Given the description of an element on the screen output the (x, y) to click on. 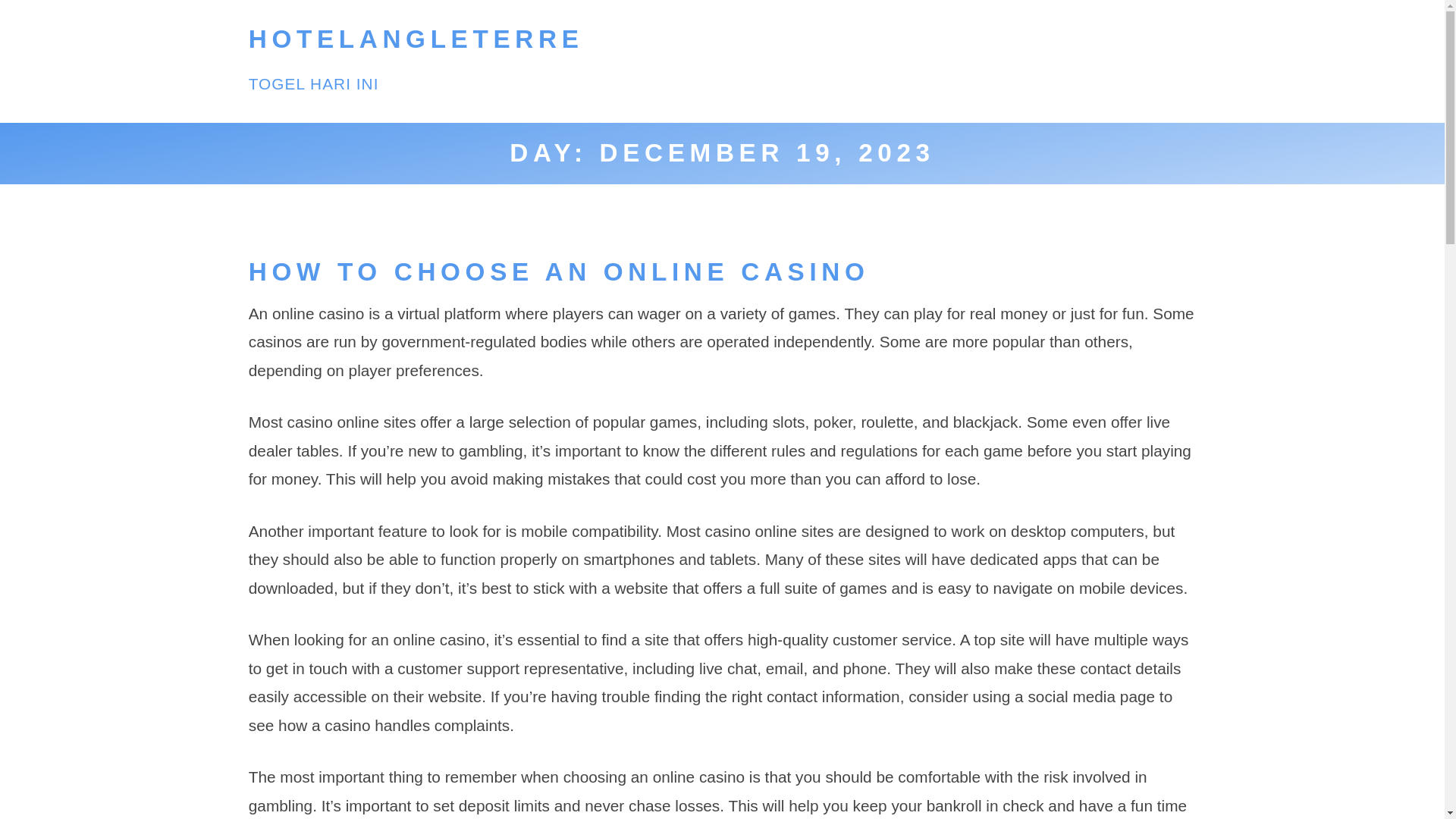
HOTELANGLETERRE (415, 39)
TOGEL HARI INI (313, 83)
HOW TO CHOOSE AN ONLINE CASINO (558, 271)
